Given the description of an element on the screen output the (x, y) to click on. 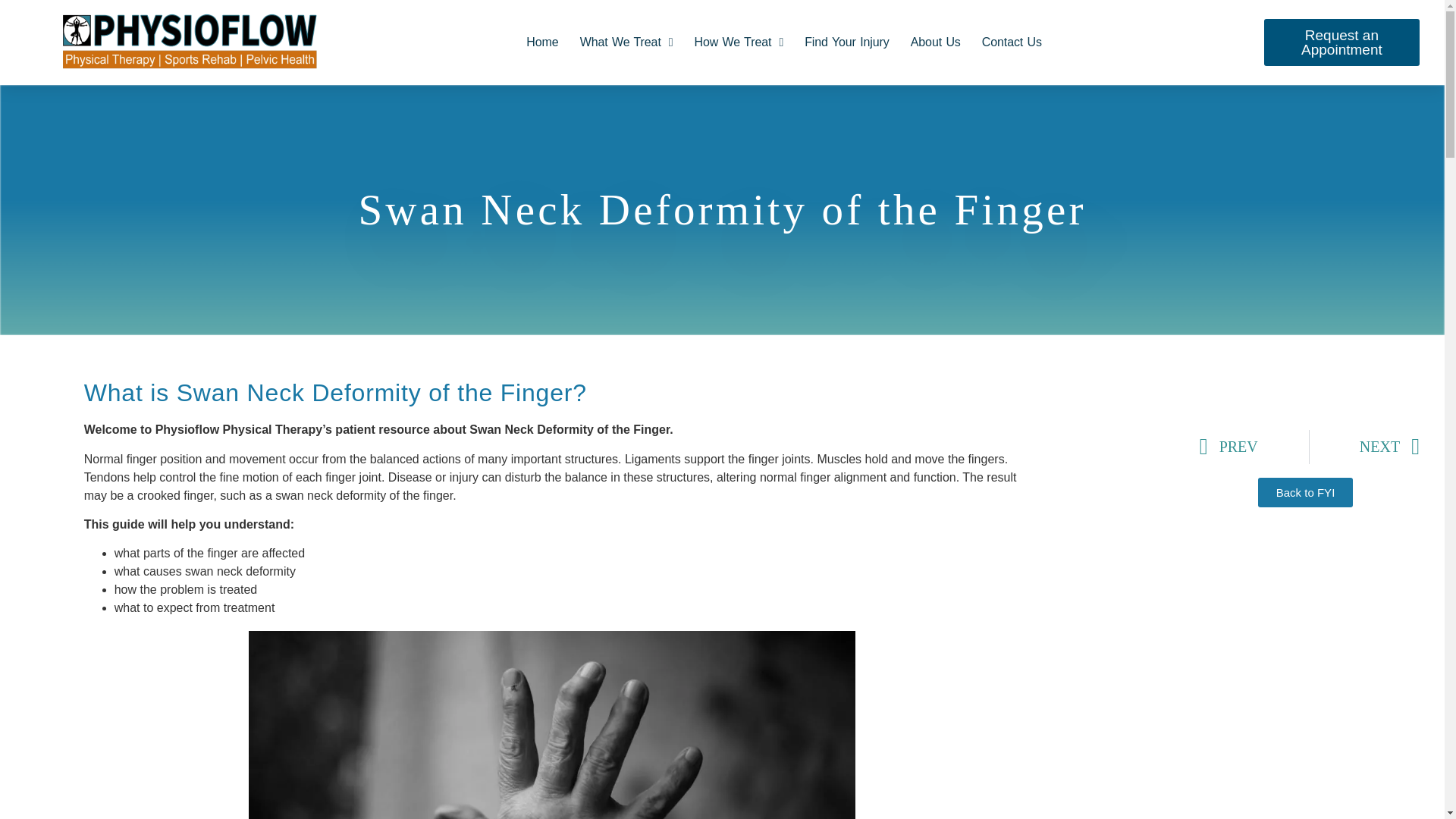
Home (542, 42)
What We Treat (626, 42)
About Us (935, 42)
How We Treat (739, 42)
Find Your Injury (846, 42)
Contact Us (1011, 42)
